Given the description of an element on the screen output the (x, y) to click on. 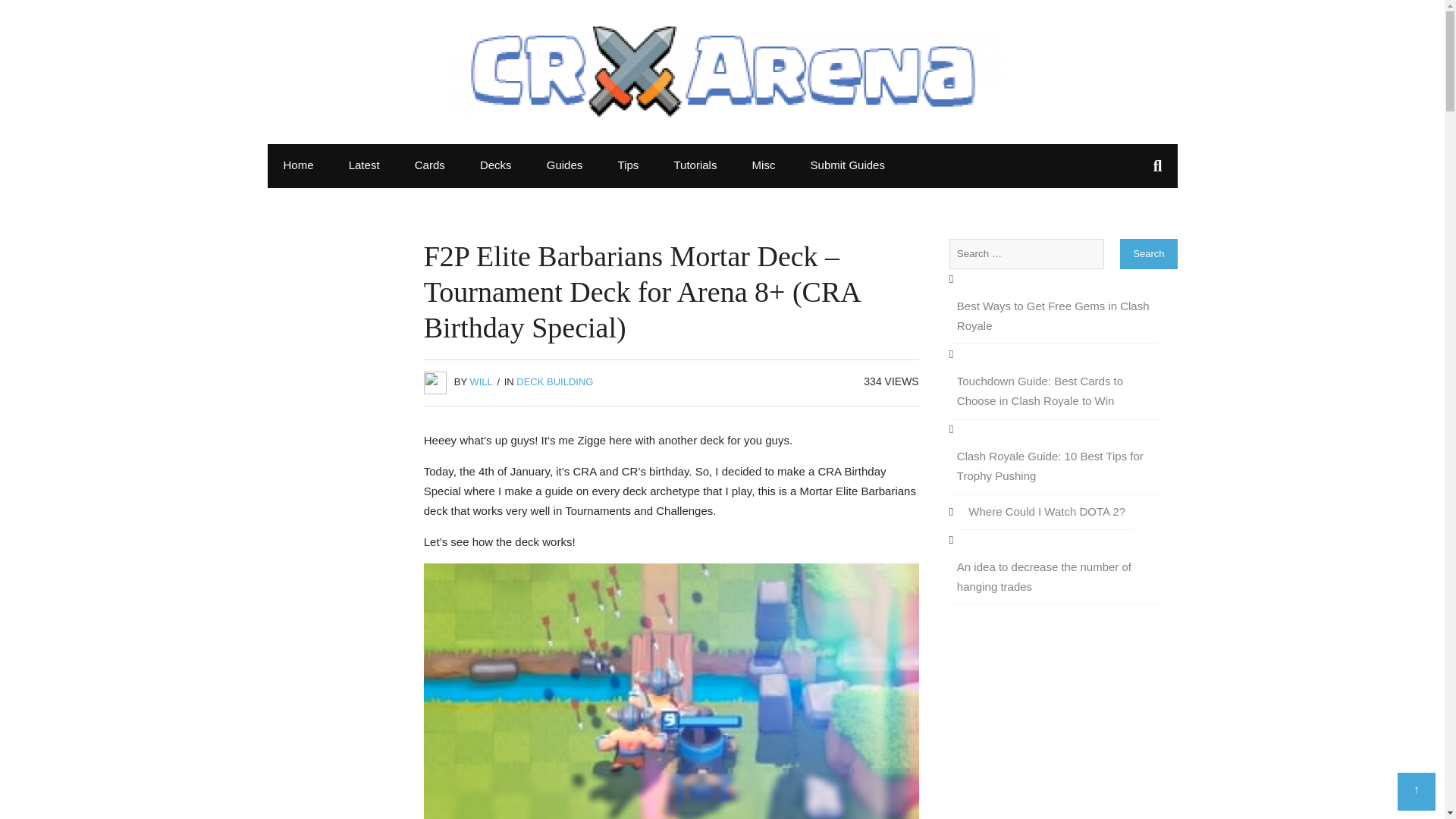
Best Ways to Get Free Gems in Clash Royale (1053, 316)
Decks (495, 165)
DECK BUILDING (554, 381)
Clash Royale Guide: 10 Best Tips for Trophy Pushing (1053, 466)
WILL (480, 381)
Misc (764, 165)
Latest (364, 165)
Touchdown Guide: Best Cards to Choose in Clash Royale to Win (1053, 391)
Elite Barbarians Mortar (670, 691)
Search (1147, 254)
